Given the description of an element on the screen output the (x, y) to click on. 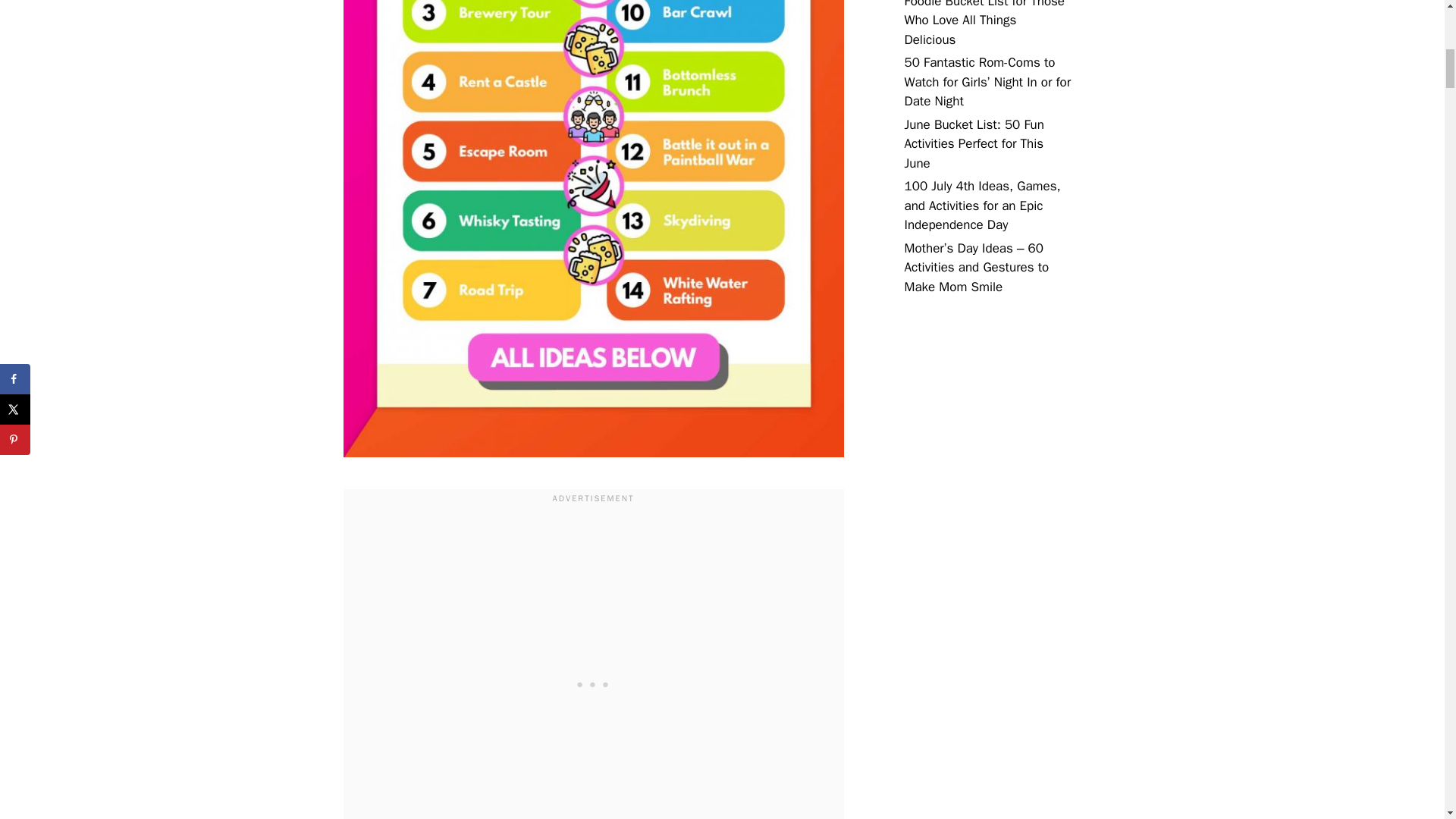
Scroll back to top (1406, 720)
